Given the description of an element on the screen output the (x, y) to click on. 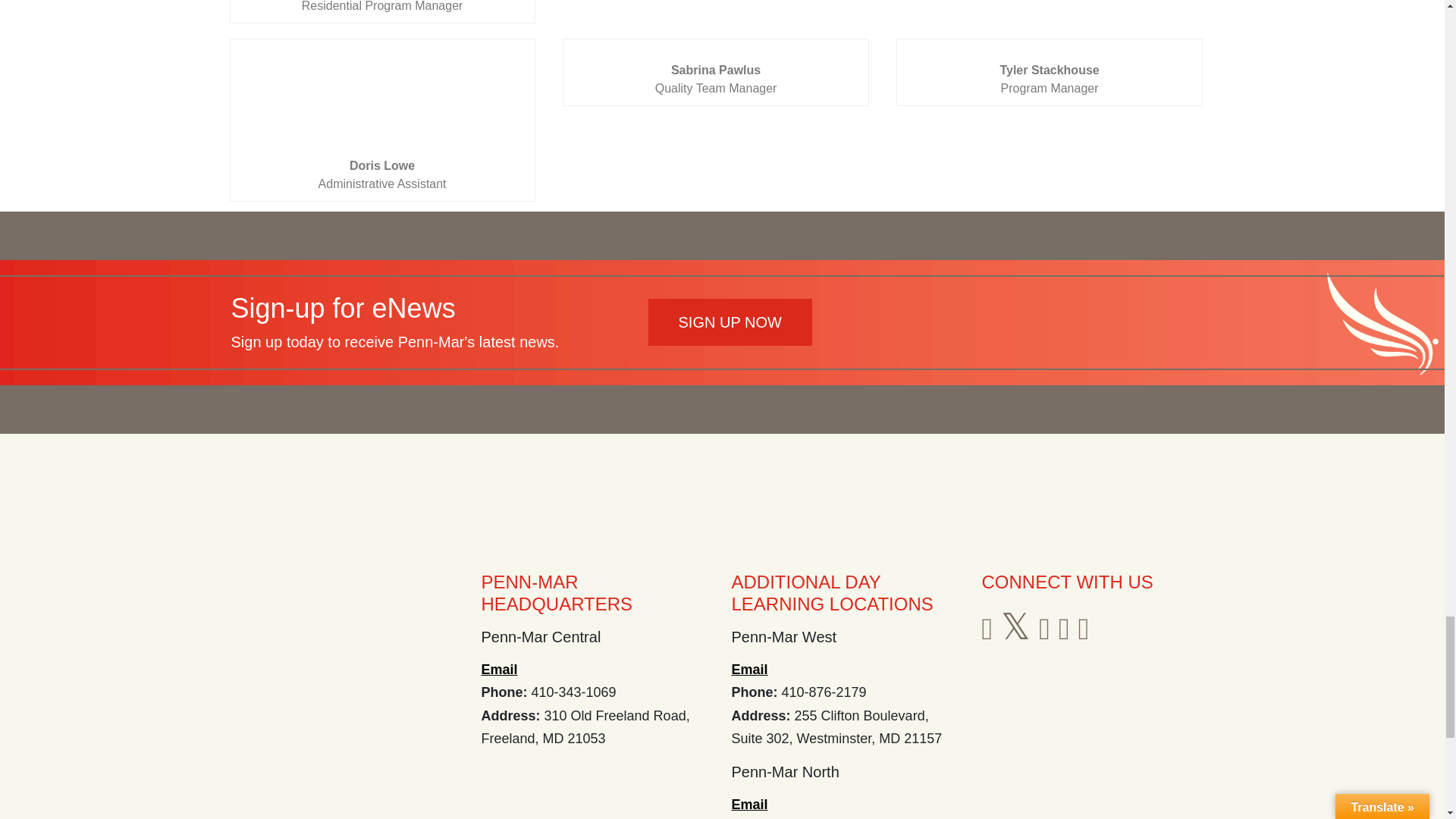
Sign Up Now (728, 321)
Doris Lowe-300 (382, 100)
